Given the description of an element on the screen output the (x, y) to click on. 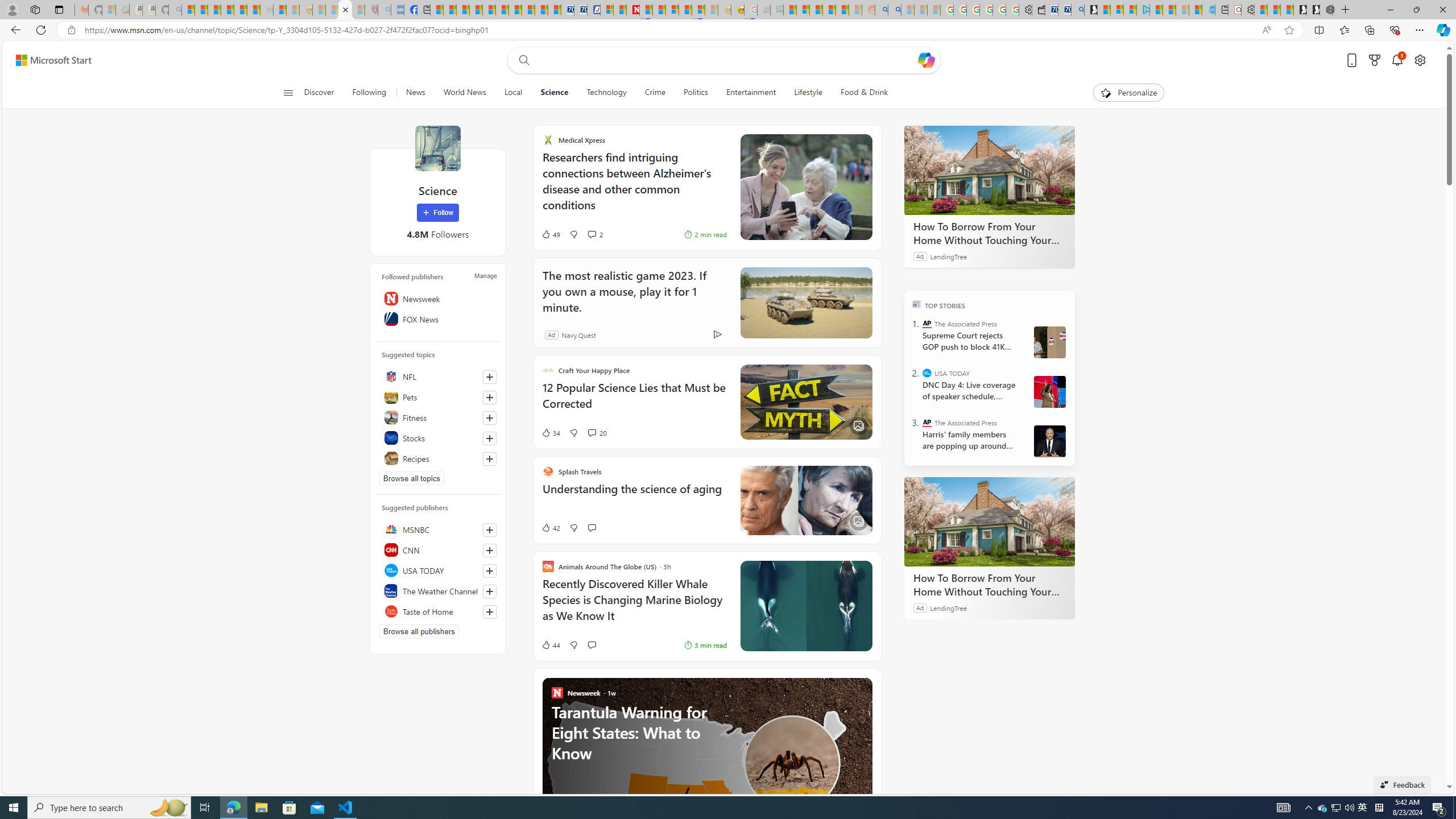
Combat Siege - Sleeping (266, 9)
12 Popular Science Lies that Must be Corrected - Sleeping (357, 9)
